Given the description of an element on the screen output the (x, y) to click on. 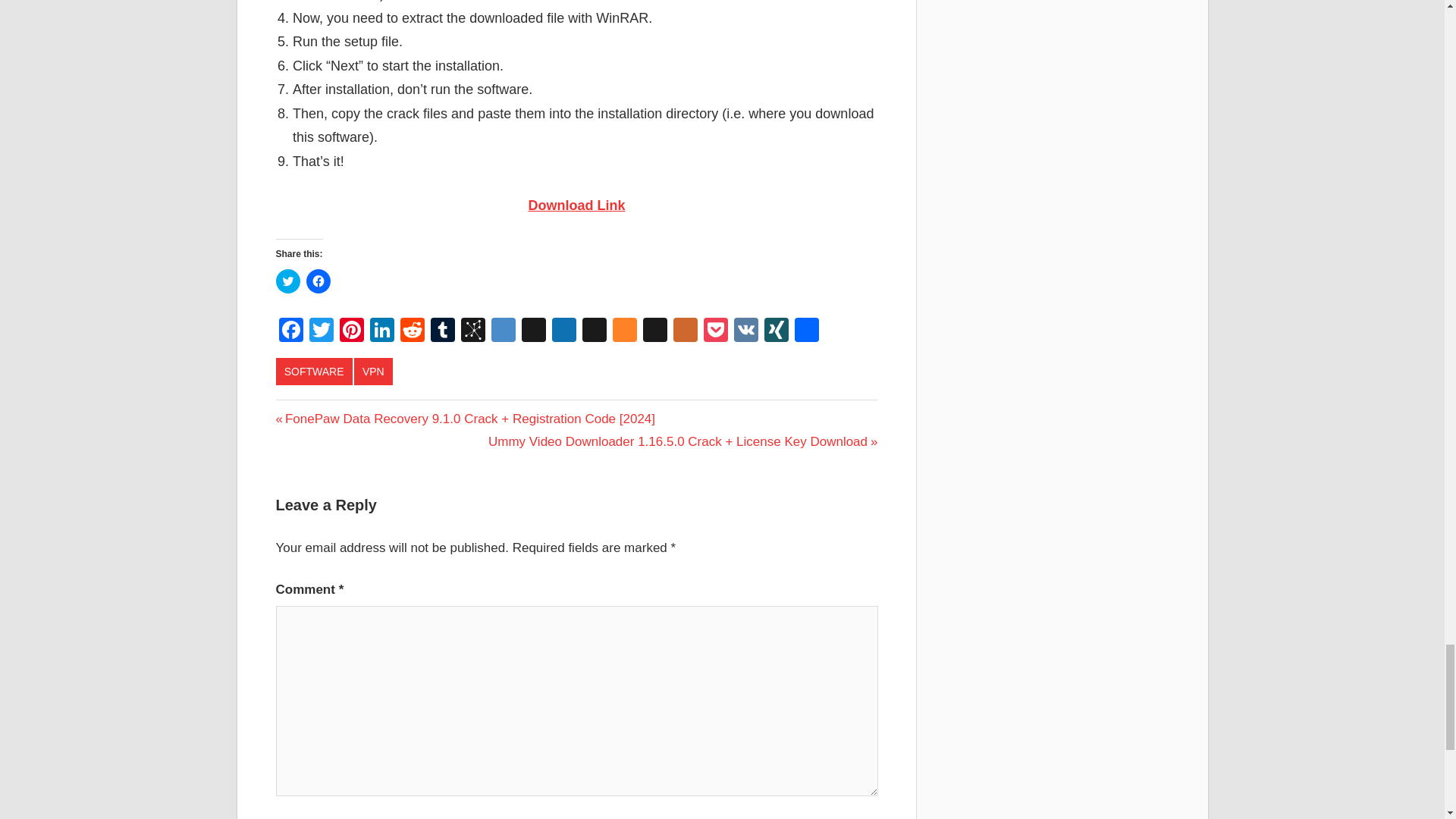
Twitter (320, 331)
Pinterest (351, 331)
Tumblr (443, 331)
Twitter (320, 331)
Folkd (563, 331)
Download Link (575, 205)
Instapaper (594, 331)
Click to share on Twitter (287, 281)
Diigo (502, 331)
LinkedIn (381, 331)
Click to share on Facebook (317, 281)
Mix (625, 331)
Facebook (290, 331)
Pinterest (351, 331)
Facebook (290, 331)
